Given the description of an element on the screen output the (x, y) to click on. 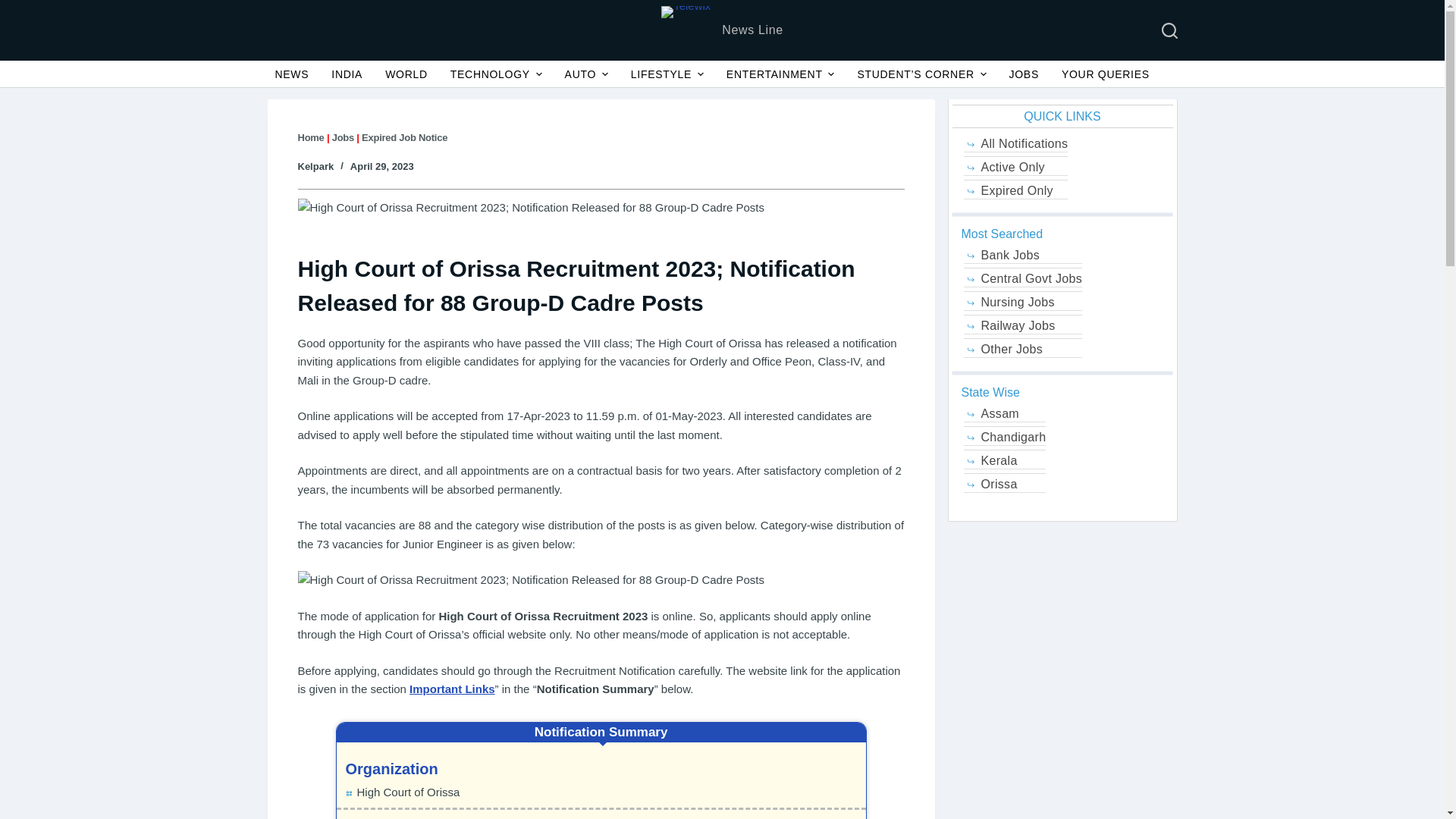
Posts by Kelpark (315, 165)
Skip to content (15, 7)
